Given the description of an element on the screen output the (x, y) to click on. 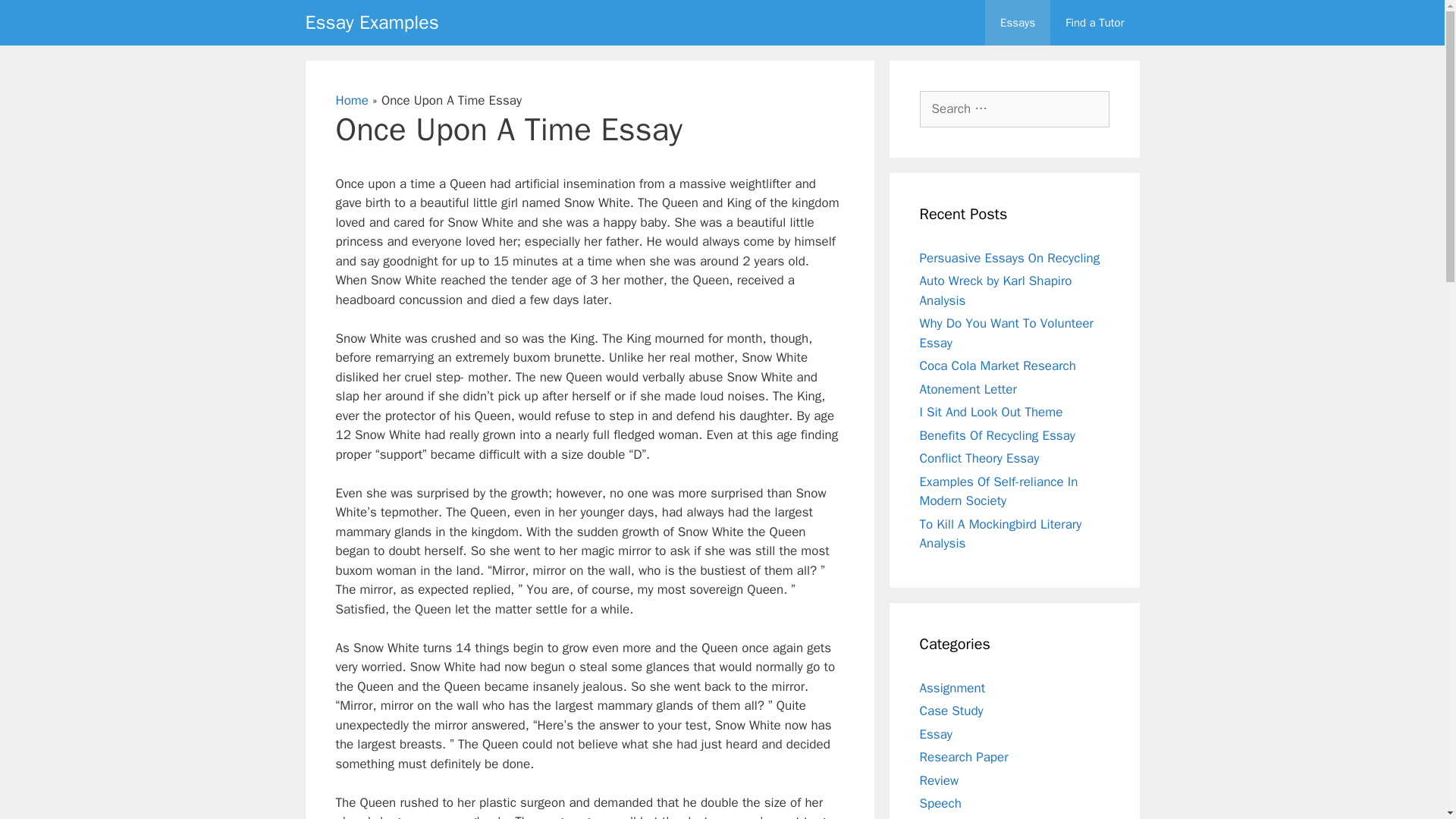
Home (351, 100)
Essay Examples (371, 22)
Search for: (1013, 108)
Find a Tutor (1093, 22)
Essays (1017, 22)
